Given the description of an element on the screen output the (x, y) to click on. 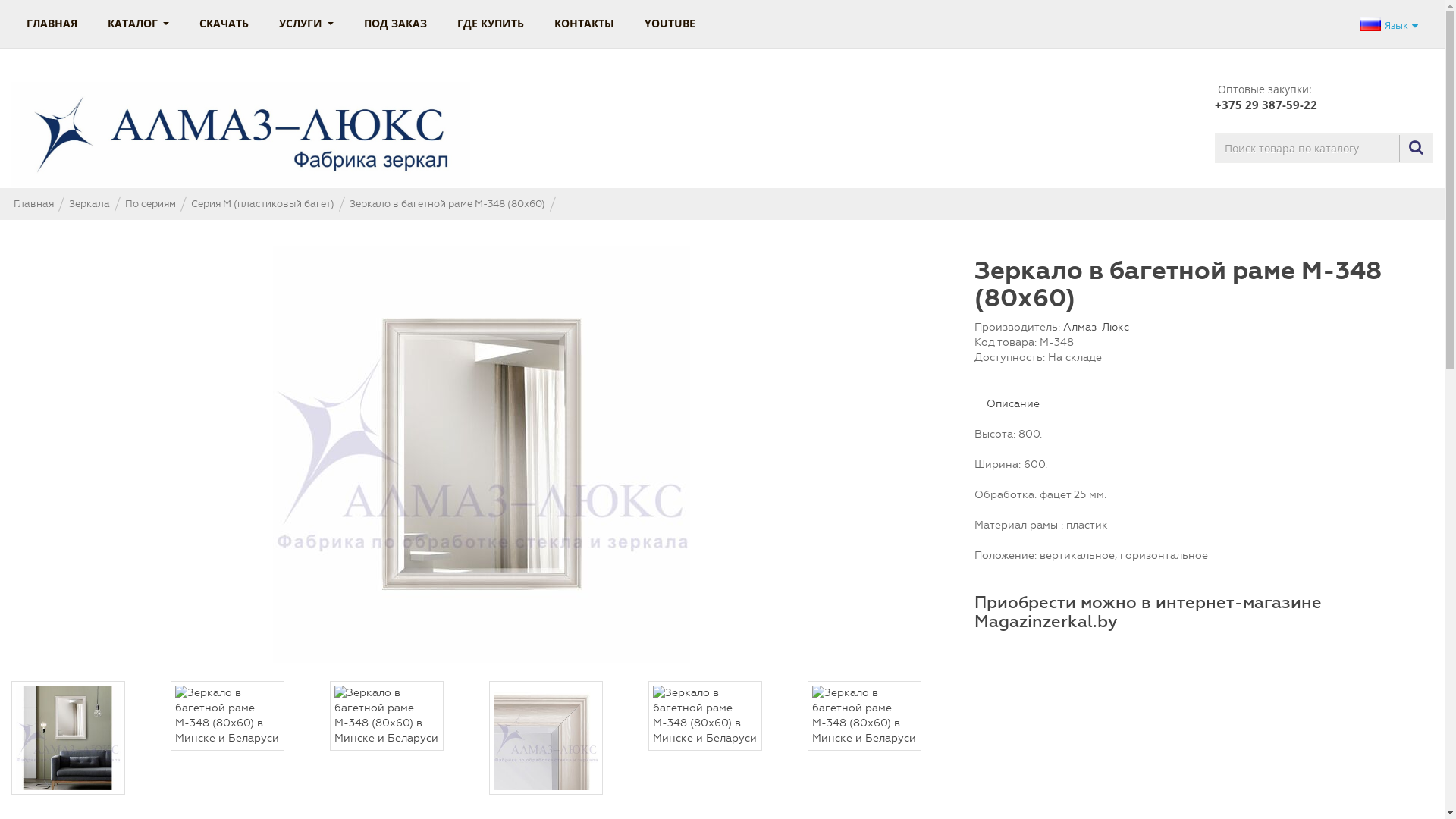
Russian Element type: hover (1369, 23)
YOUTUBE Element type: text (669, 23)
+375 29 387-59-22 Element type: text (1265, 104)
